Given the description of an element on the screen output the (x, y) to click on. 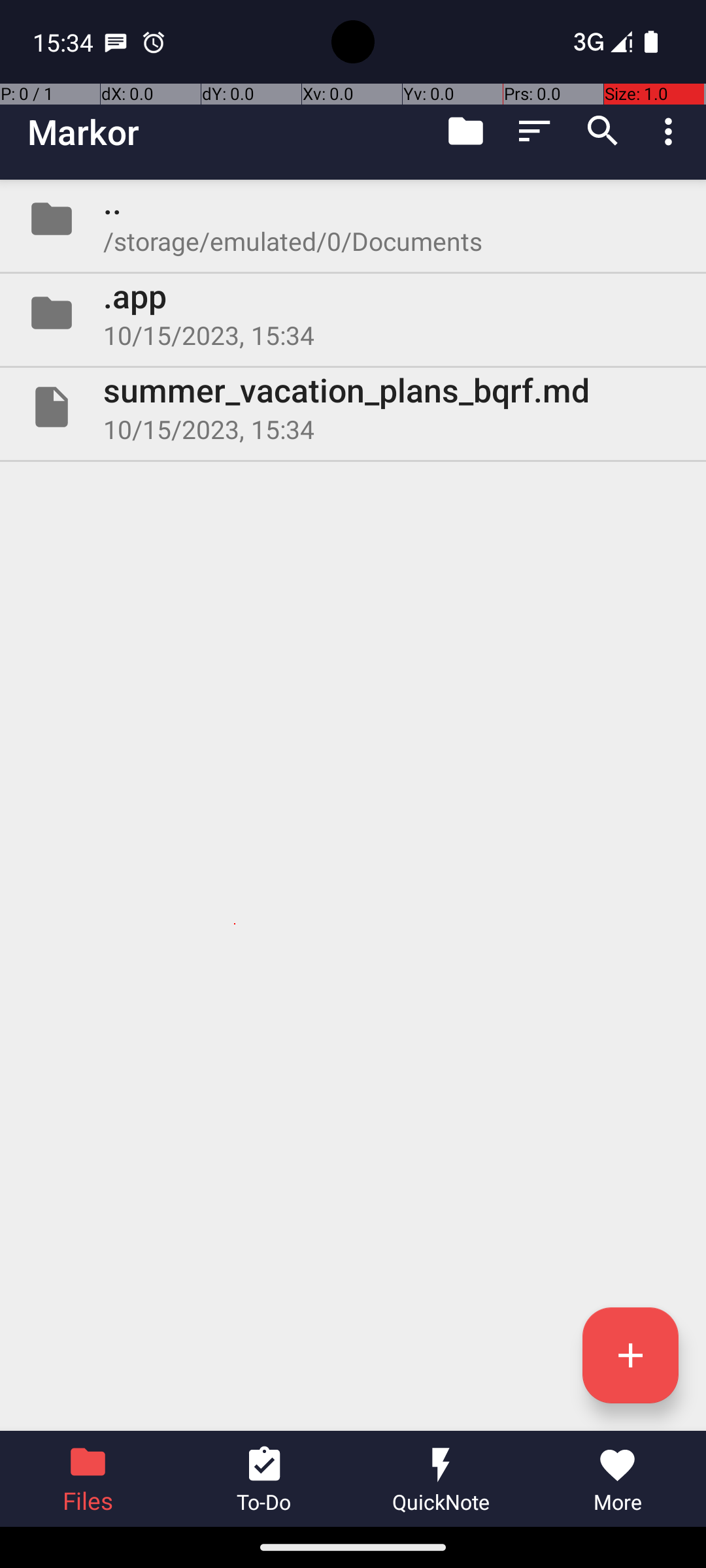
Folder .app  Element type: android.widget.LinearLayout (353, 312)
File summer_vacation_plans_bqrf.md  Element type: android.widget.LinearLayout (353, 406)
